Given the description of an element on the screen output the (x, y) to click on. 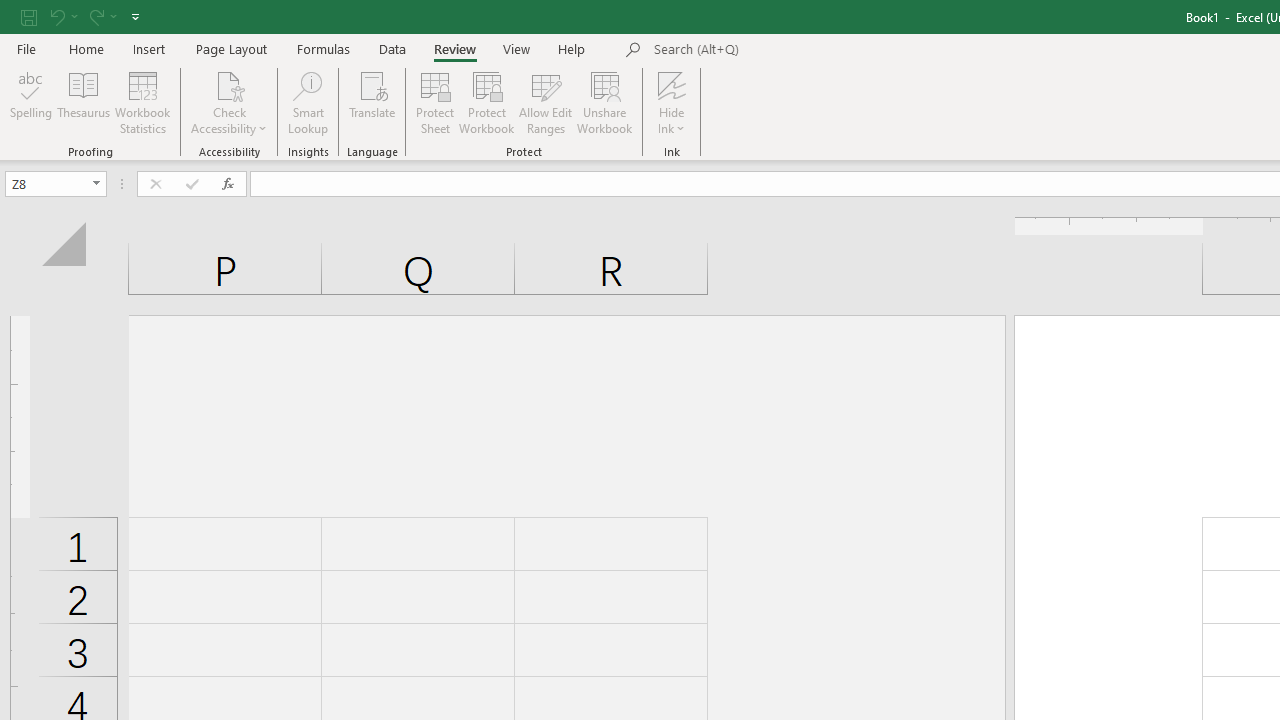
Data (392, 48)
Quick Access Toolbar (82, 16)
Unshare Workbook (604, 102)
Customize Quick Access Toolbar (135, 15)
Hide Ink (671, 84)
